Given the description of an element on the screen output the (x, y) to click on. 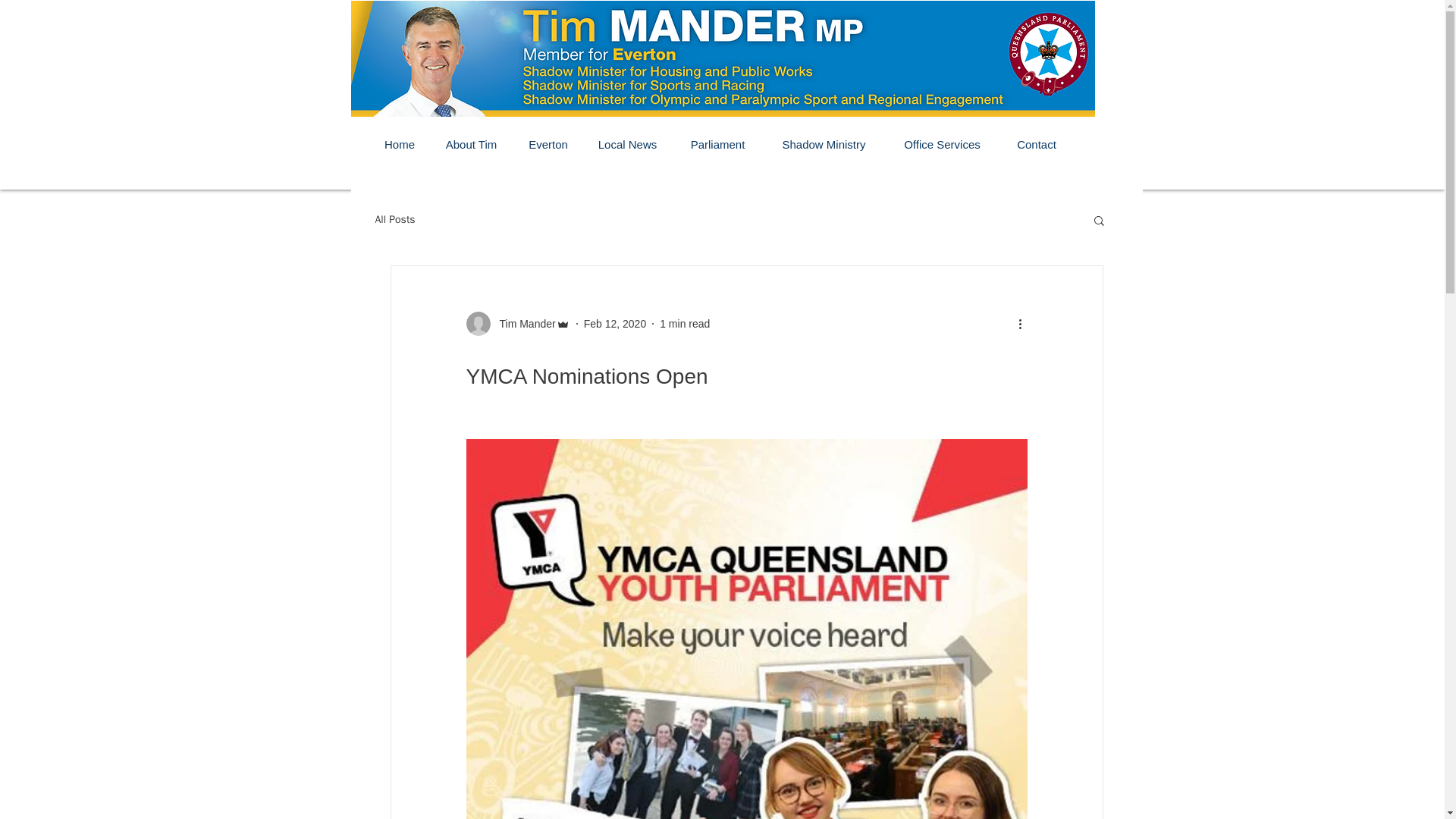
Everton (548, 144)
Parliament (716, 144)
Feb 12, 2020 (614, 322)
About Tim (471, 144)
Tim Mander (521, 323)
1 min read (684, 322)
Local News (626, 144)
Home (398, 144)
Office Services (940, 144)
All Posts (394, 219)
